Given the description of an element on the screen output the (x, y) to click on. 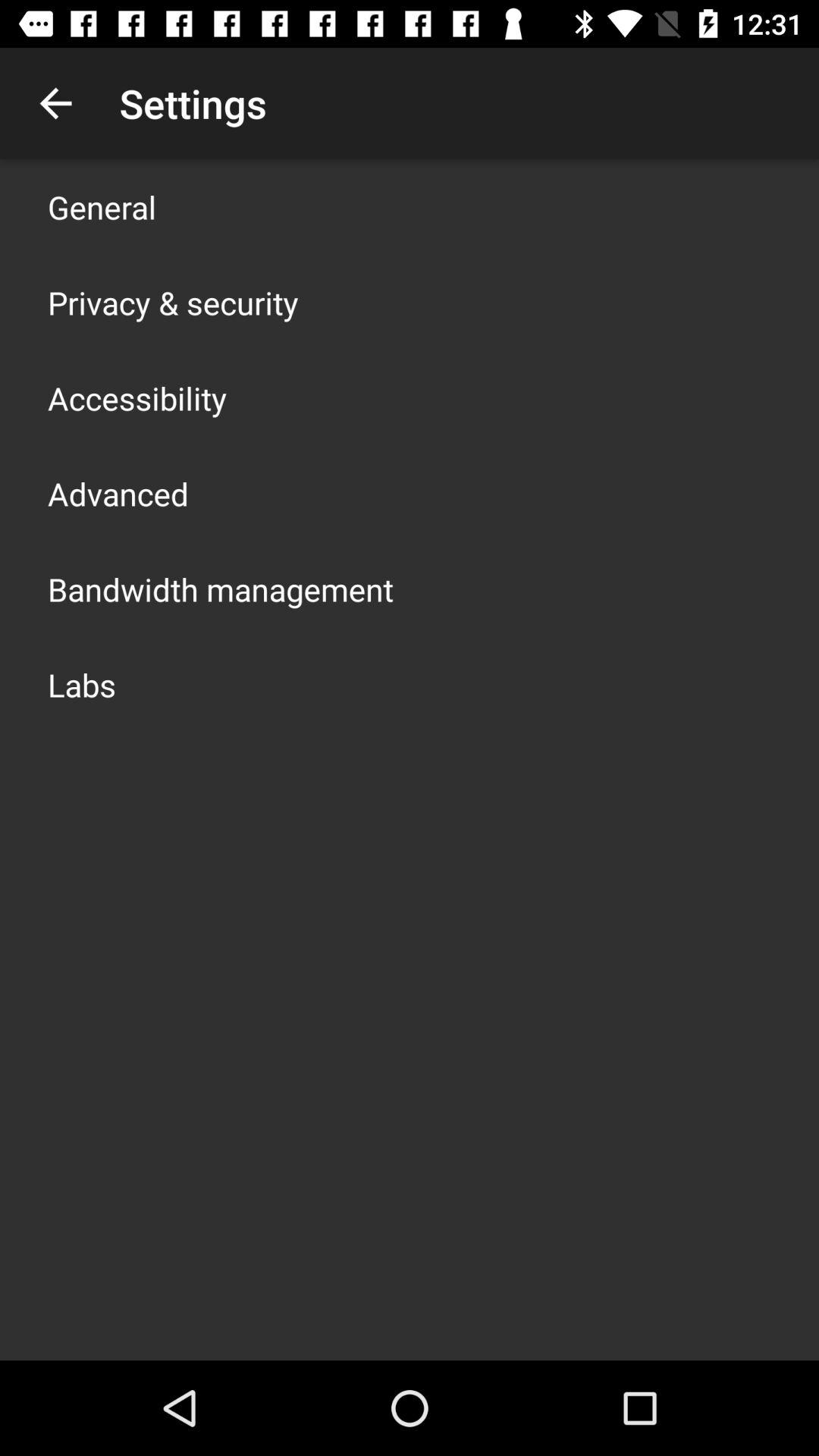
open the icon next to settings app (55, 103)
